Given the description of an element on the screen output the (x, y) to click on. 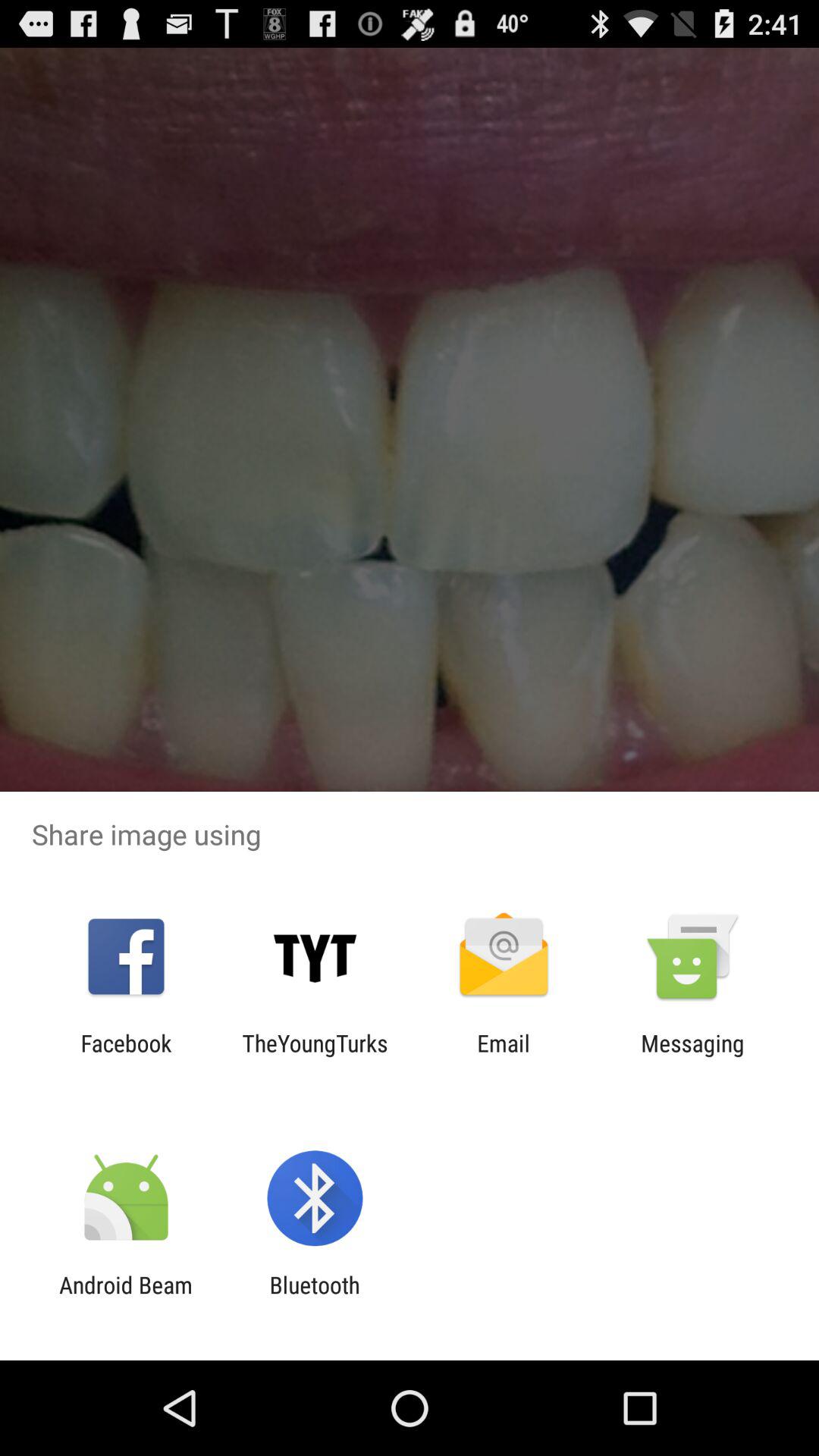
launch the android beam app (125, 1298)
